Given the description of an element on the screen output the (x, y) to click on. 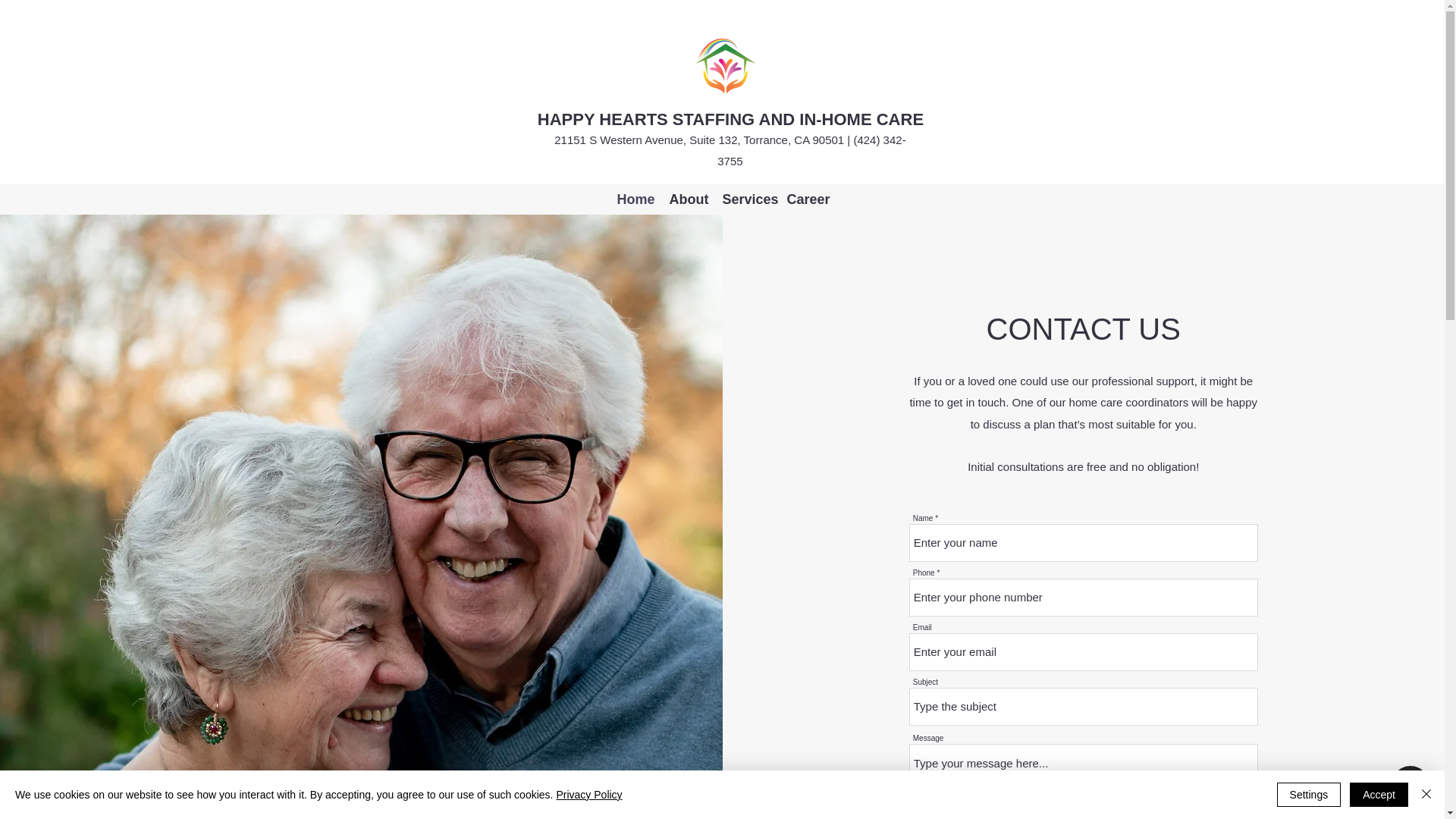
HAPPY HEARTS STAFFING AND IN-HOME CARE (730, 118)
Privacy Policy (588, 794)
About (687, 199)
Home (634, 199)
Accept (1378, 794)
Career (806, 199)
Settings (1308, 794)
Services (746, 199)
